Given the description of an element on the screen output the (x, y) to click on. 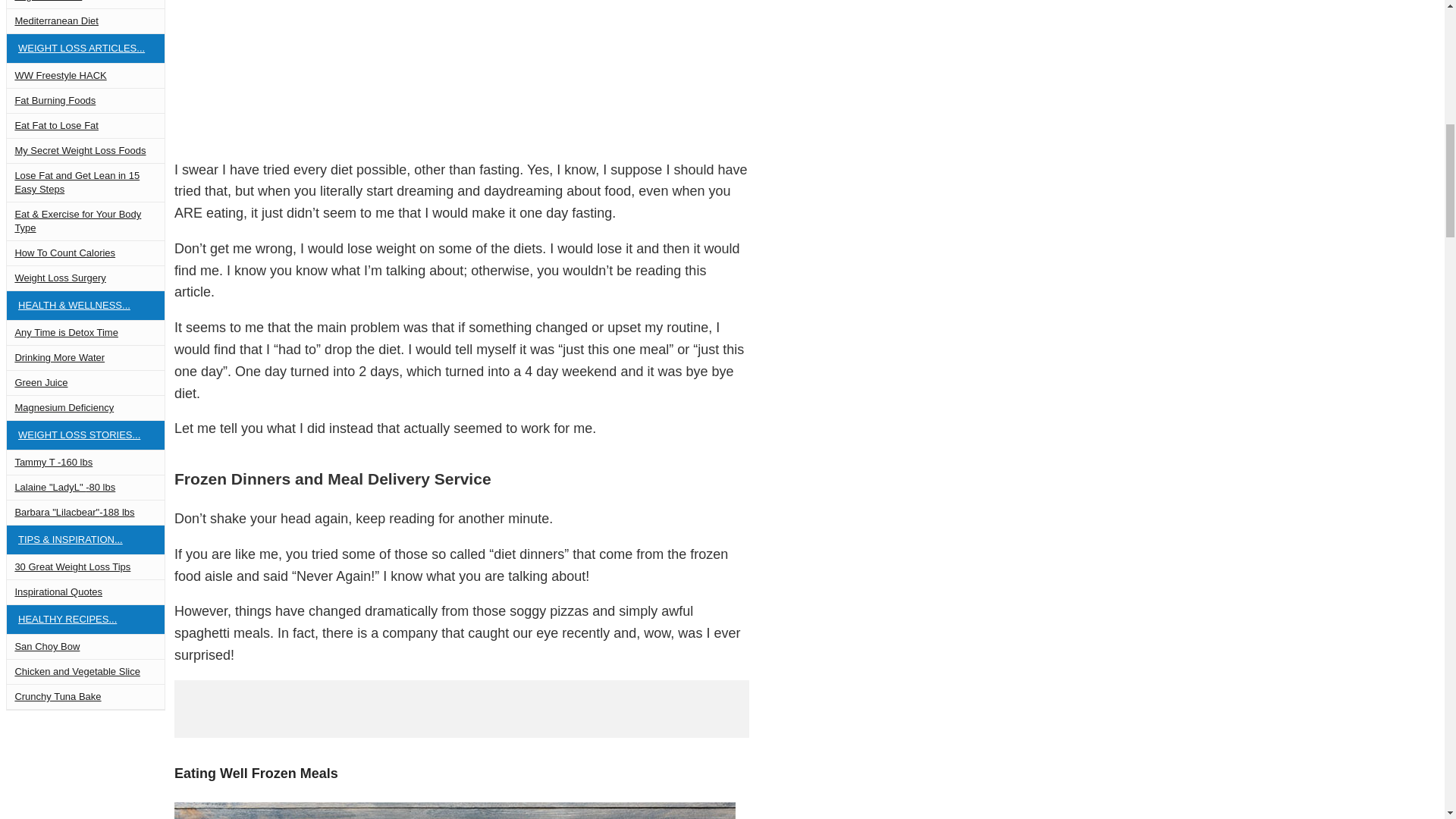
Fat Burning Foods (85, 100)
Eat Fat to Lose Fat (85, 125)
WW Freestyle HACK (85, 75)
Vegetarian Diet (85, 4)
My Secret Weight Loss Foods (85, 150)
Weight Loss Surgery (85, 278)
Lose Fat and Get Lean in 15 Easy Steps (85, 182)
Advertisement (542, 72)
Mediterranean Diet (85, 21)
WEIGHT LOSS ARTICLES... (85, 48)
How To Count Calories (85, 252)
